Given the description of an element on the screen output the (x, y) to click on. 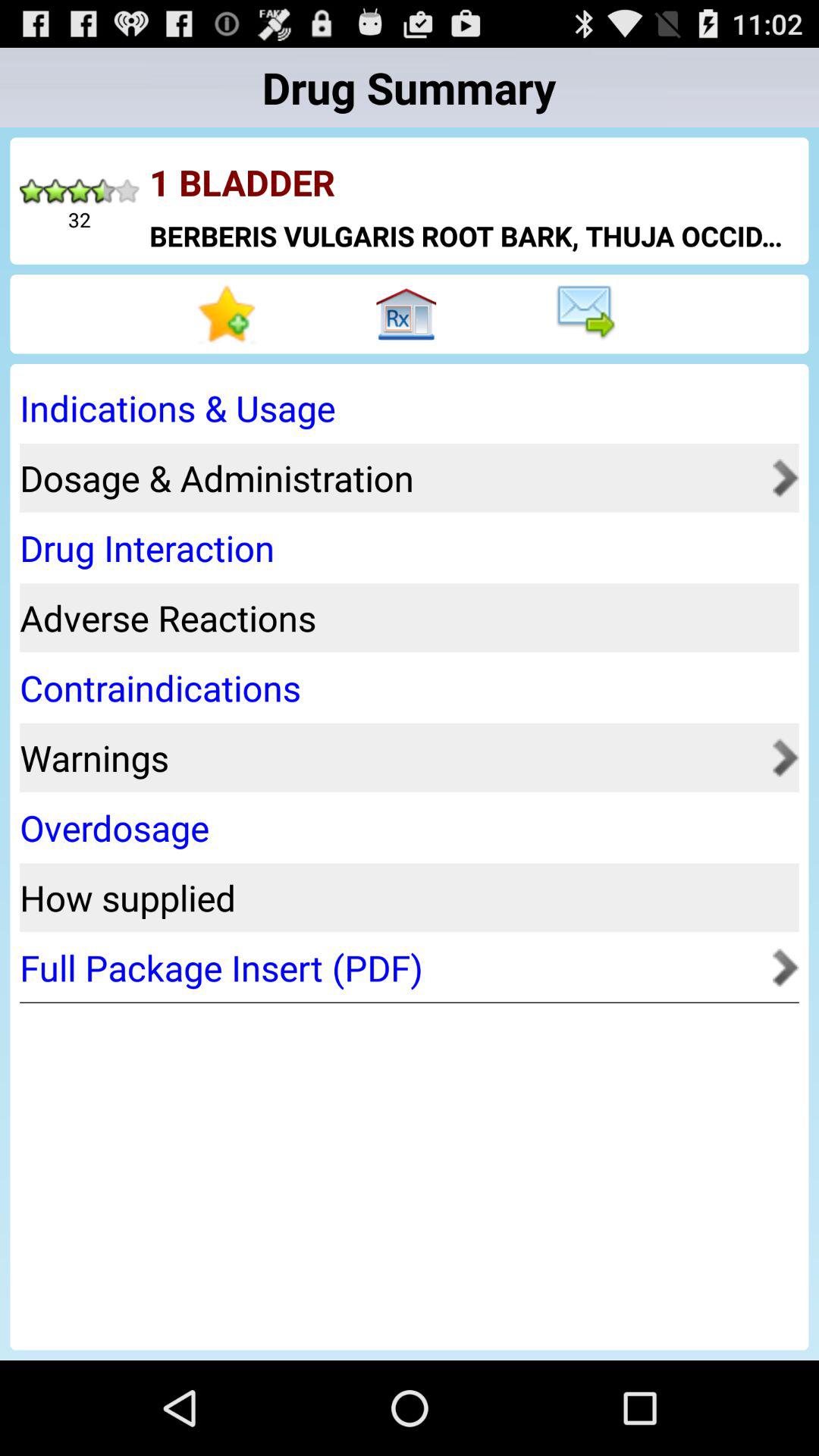
turn on the app above the overdosage (390, 757)
